Given the description of an element on the screen output the (x, y) to click on. 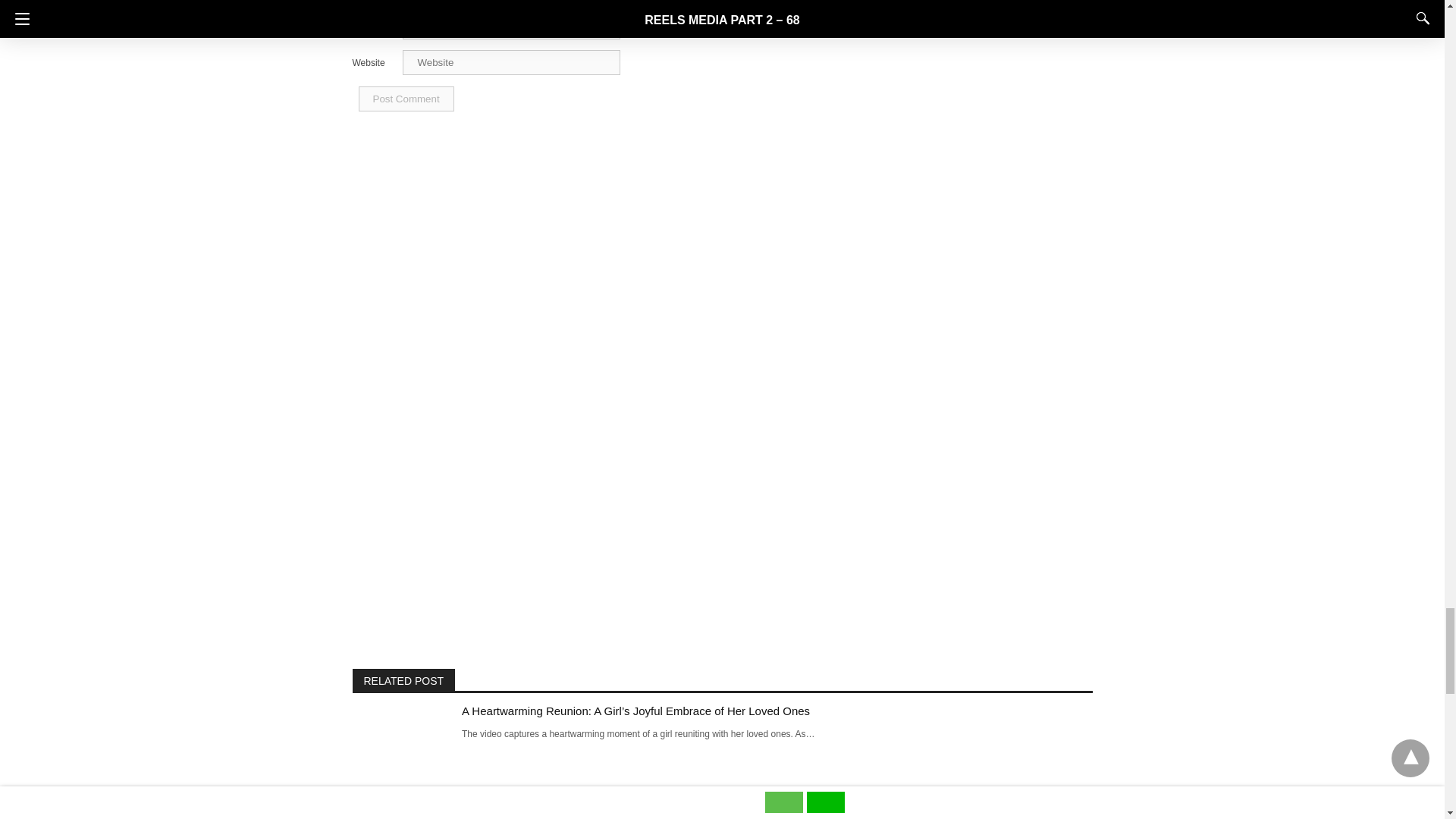
Post Comment (405, 98)
Post Comment (405, 98)
